Given the description of an element on the screen output the (x, y) to click on. 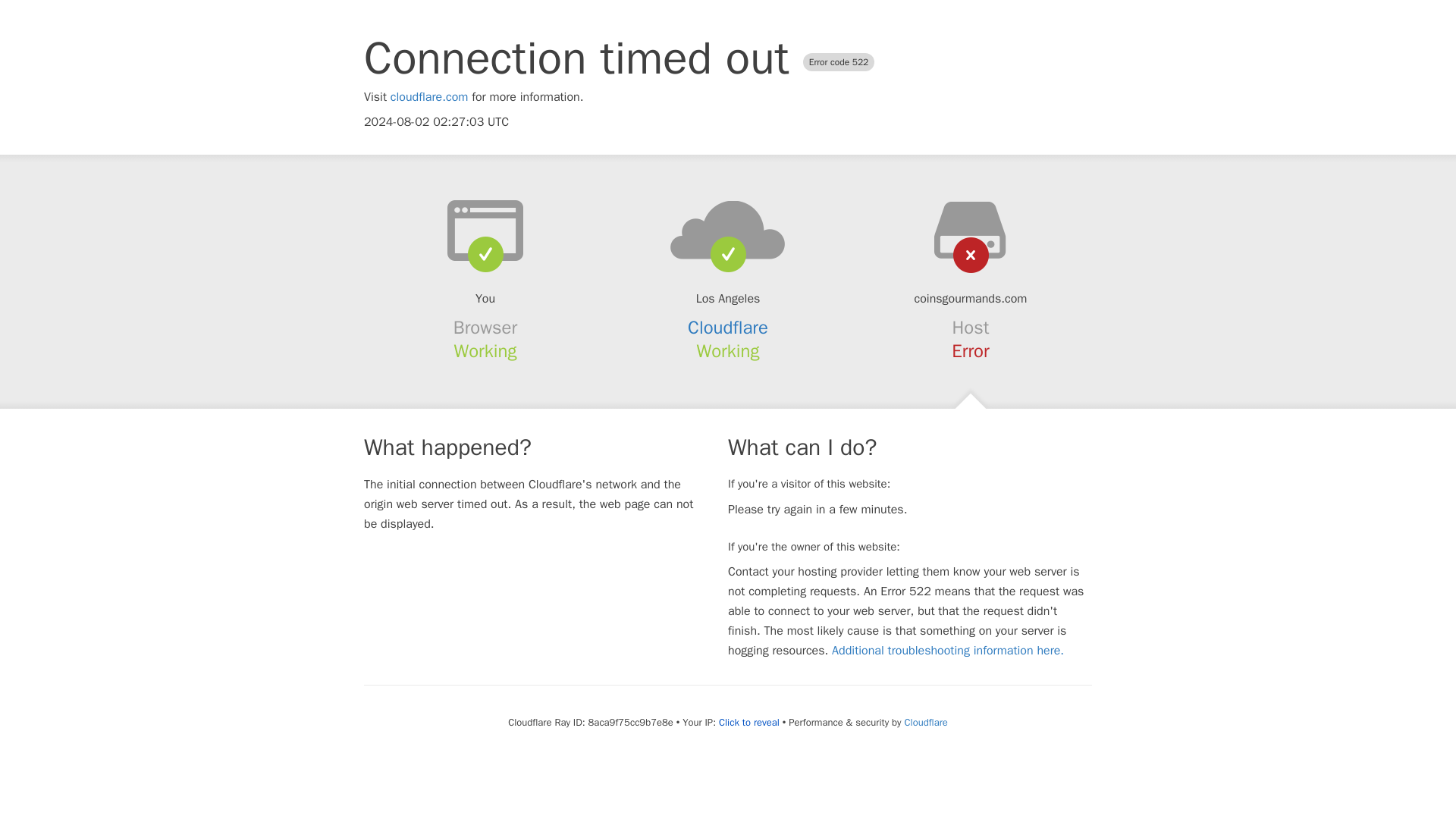
Click to reveal (748, 722)
cloudflare.com (429, 96)
Cloudflare (727, 327)
Cloudflare (925, 721)
Additional troubleshooting information here. (947, 650)
